Given the description of an element on the screen output the (x, y) to click on. 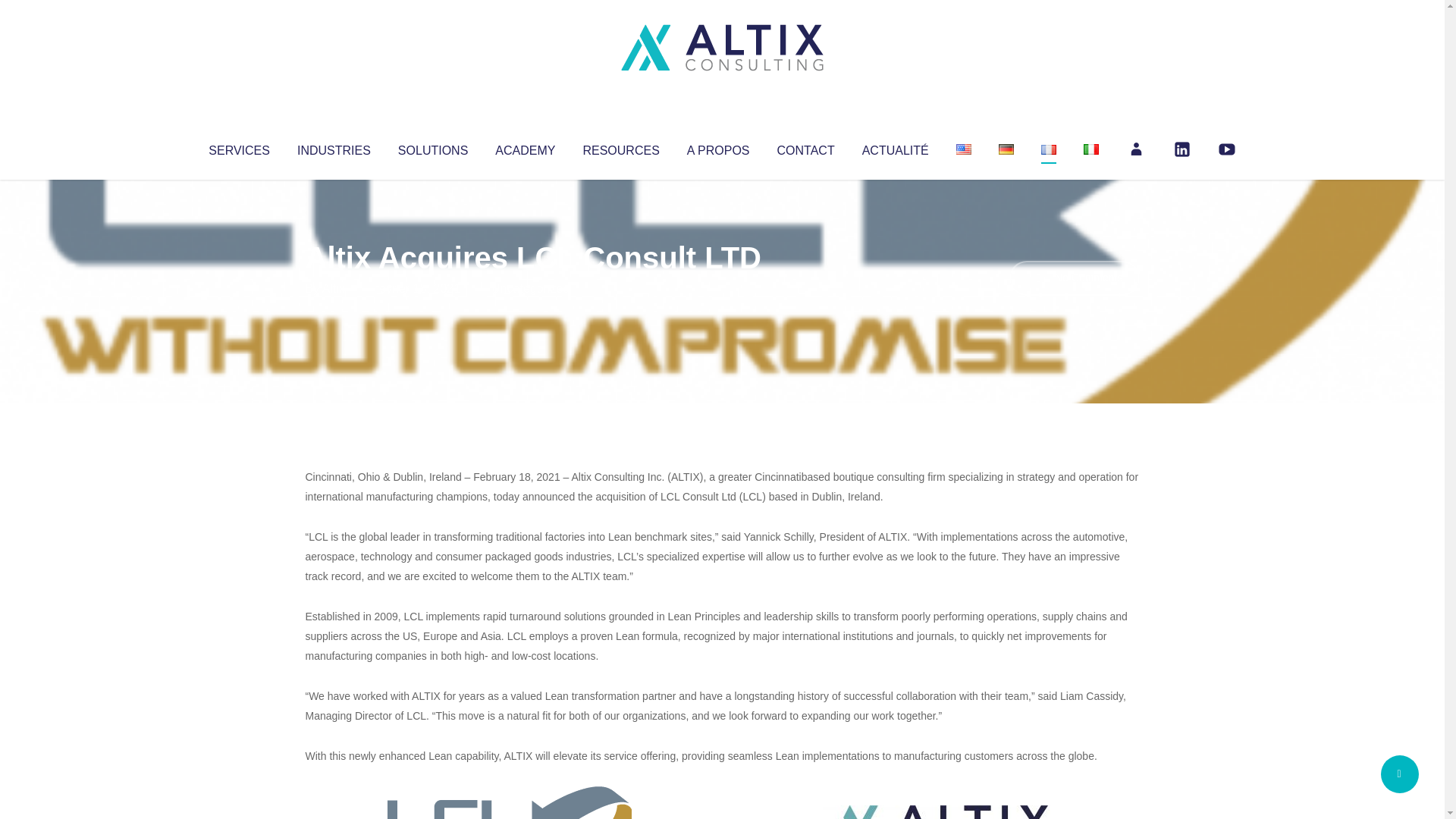
No Comments (1073, 278)
SOLUTIONS (432, 146)
RESOURCES (620, 146)
A PROPOS (718, 146)
Uncategorized (530, 287)
Articles par Altix (333, 287)
Altix (333, 287)
SERVICES (238, 146)
INDUSTRIES (334, 146)
ACADEMY (524, 146)
